Given the description of an element on the screen output the (x, y) to click on. 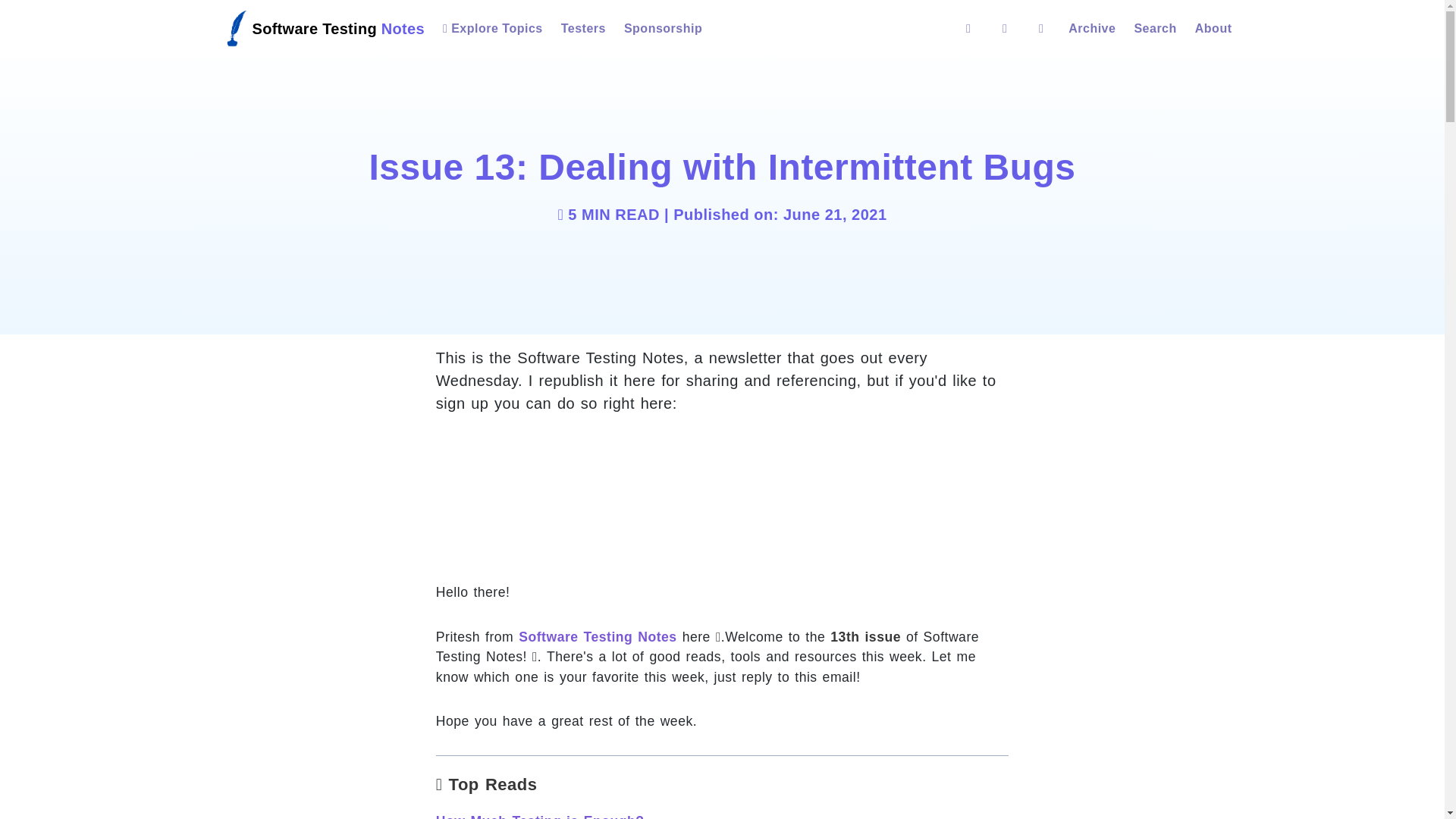
Testers (582, 28)
Sponsorship (662, 28)
Archive (1091, 28)
Software Testing Notes (597, 636)
How Much Testing is Enough? (540, 816)
About (1213, 28)
Search (1154, 28)
Software Testing Notes (317, 28)
